Given the description of an element on the screen output the (x, y) to click on. 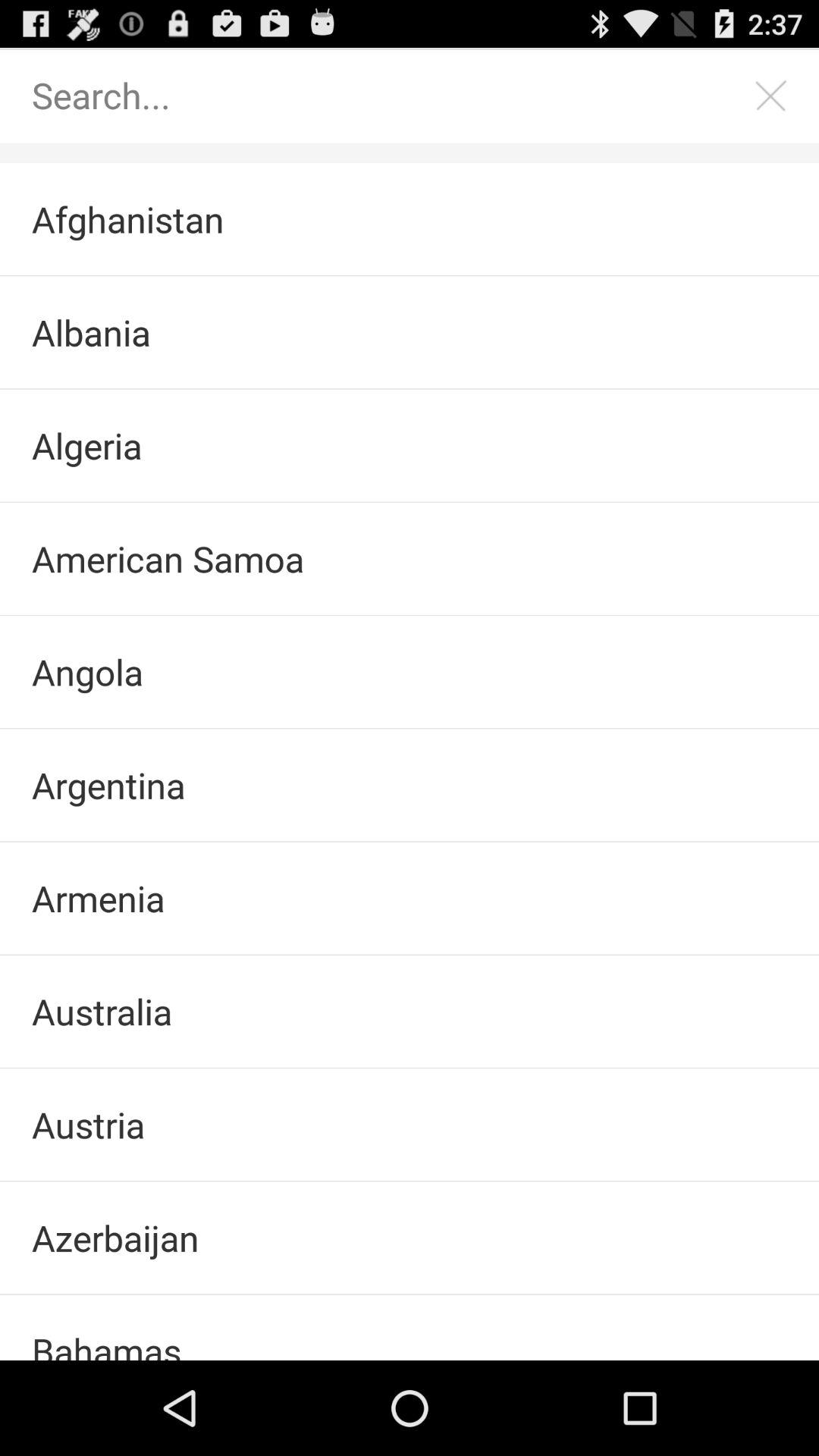
clear search bar (771, 95)
